Given the description of an element on the screen output the (x, y) to click on. 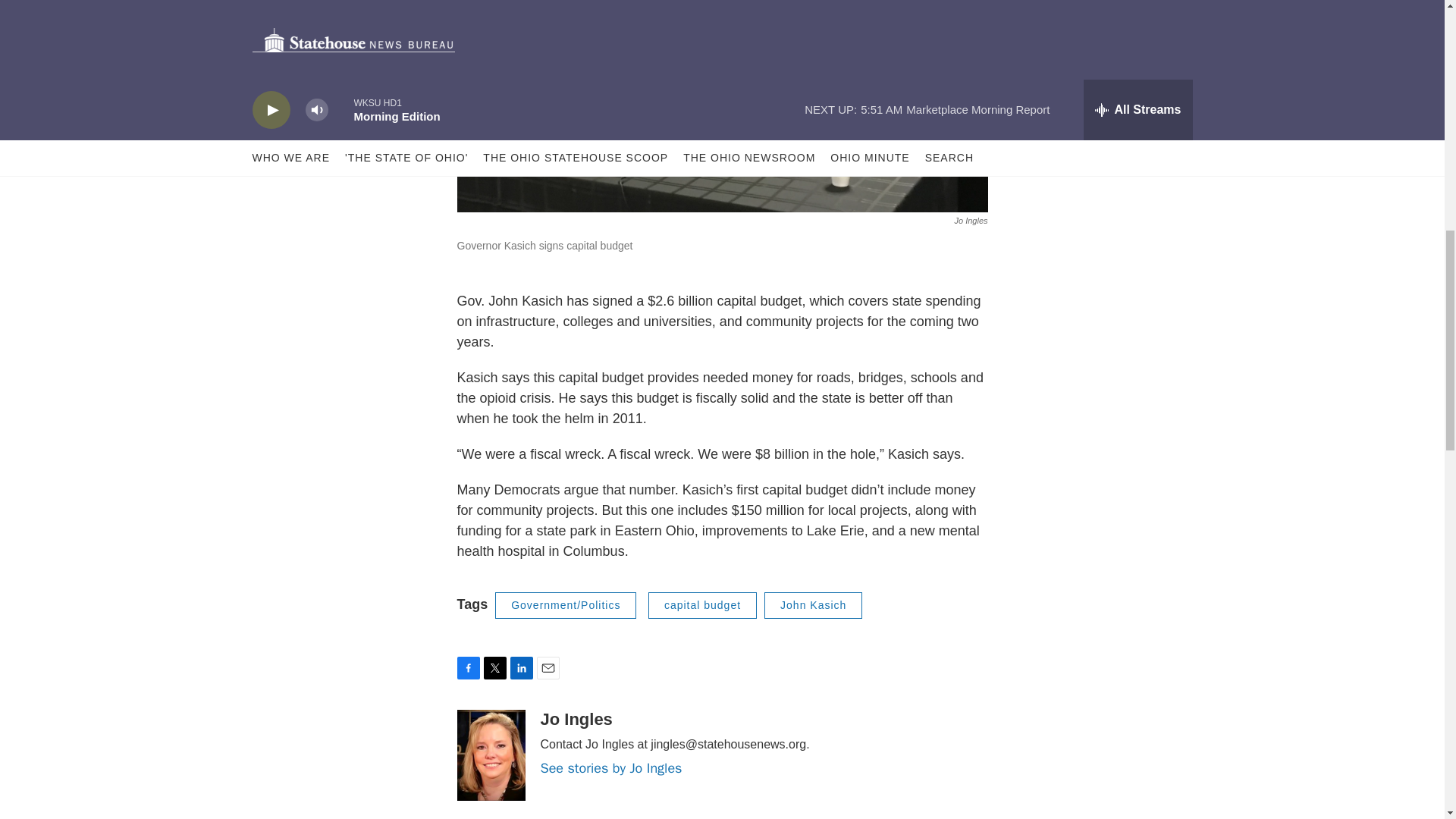
capital budget (702, 605)
John Kasich (812, 605)
Facebook (468, 667)
